Given the description of an element on the screen output the (x, y) to click on. 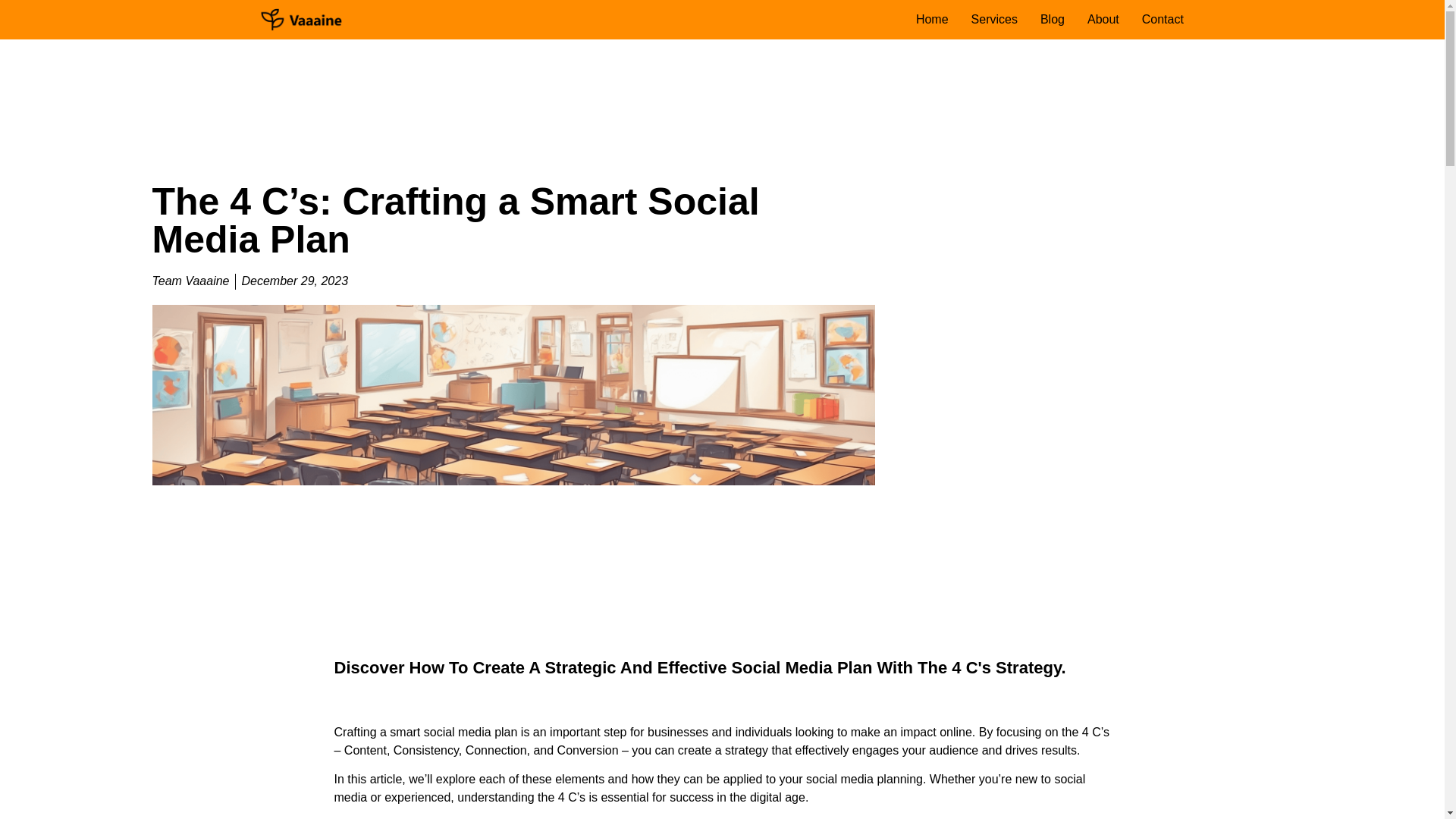
Services (994, 19)
Contact (1162, 19)
Blog (1052, 19)
About (1103, 19)
Home (932, 19)
